Given the description of an element on the screen output the (x, y) to click on. 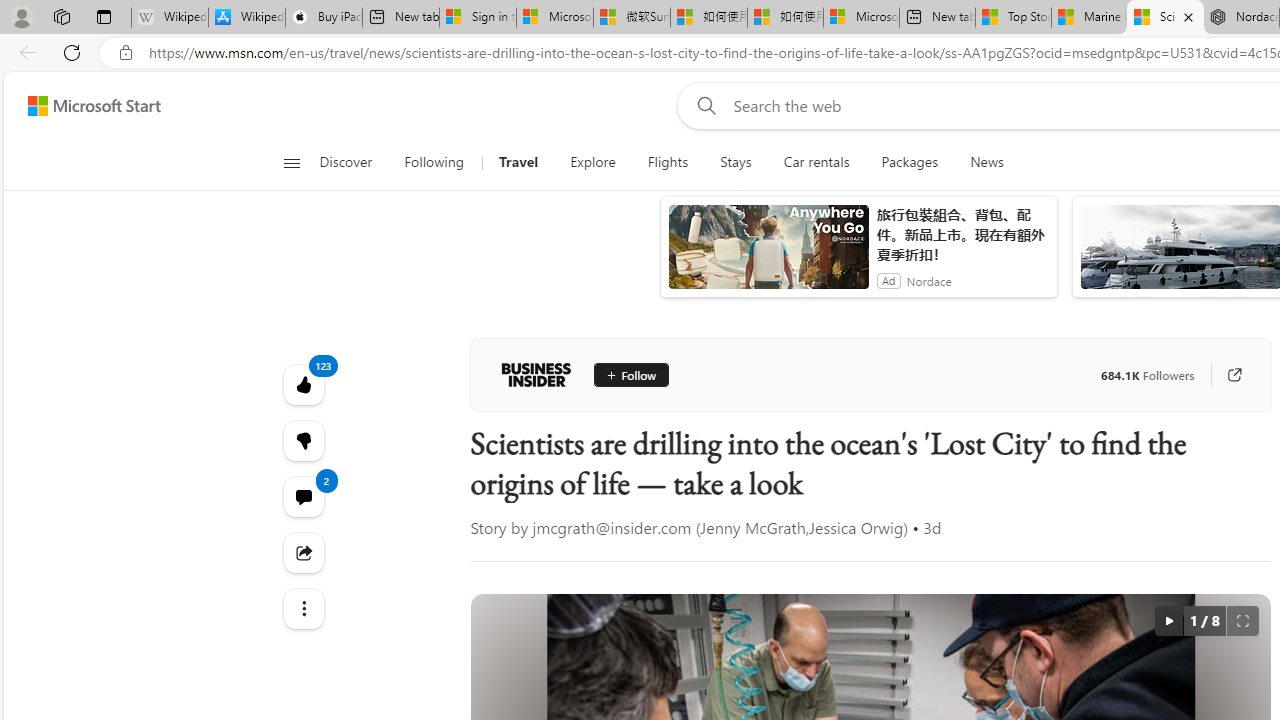
Stays (735, 162)
Back (24, 52)
Web search (702, 105)
123 (302, 440)
Flights (667, 162)
Follow (630, 374)
Packages (909, 162)
Top Stories - MSN (1012, 17)
Car rentals (816, 162)
Following (434, 162)
Wikipedia - Sleeping (169, 17)
News (978, 162)
Travel (517, 162)
